Given the description of an element on the screen output the (x, y) to click on. 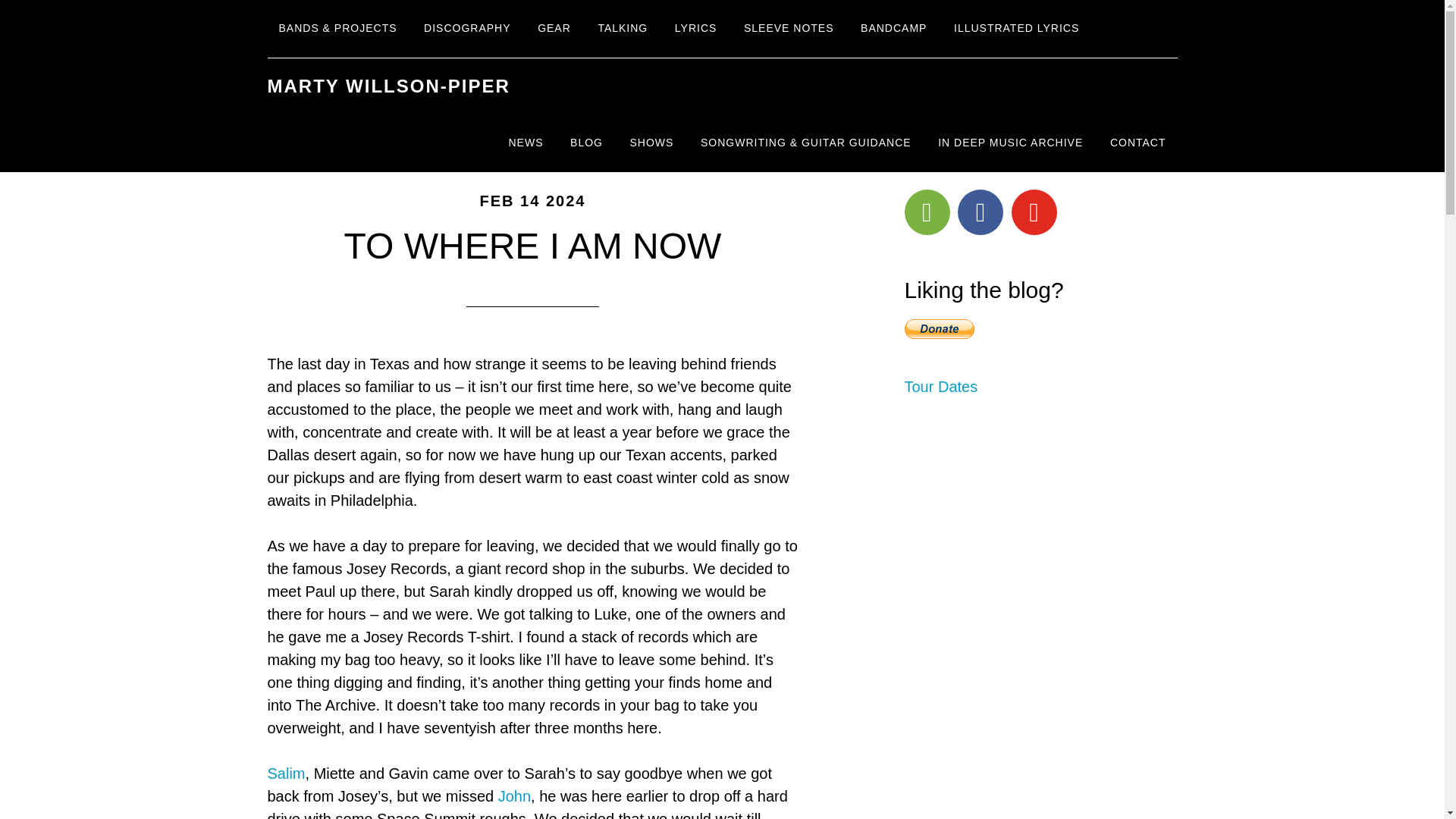
Spotify (926, 212)
GEAR (553, 28)
TALKING (622, 28)
Facebook (980, 212)
PayPal - The safer, easier way to pay online! (939, 329)
YouTube (1034, 212)
DISCOGRAPHY (466, 28)
LYRICS (696, 28)
SLEEVE NOTES (788, 28)
